Given the description of an element on the screen output the (x, y) to click on. 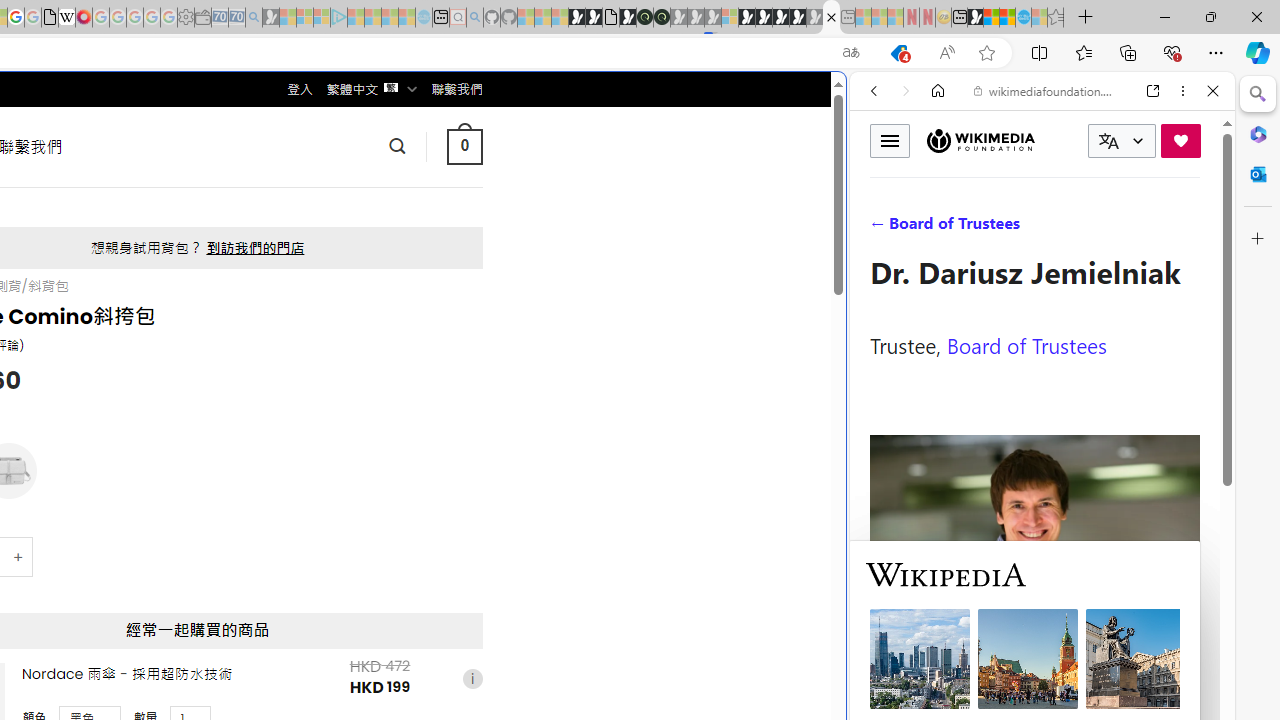
Earth has six continents not seven, radical new study claims (1007, 17)
Wiktionary (1034, 669)
